Given the description of an element on the screen output the (x, y) to click on. 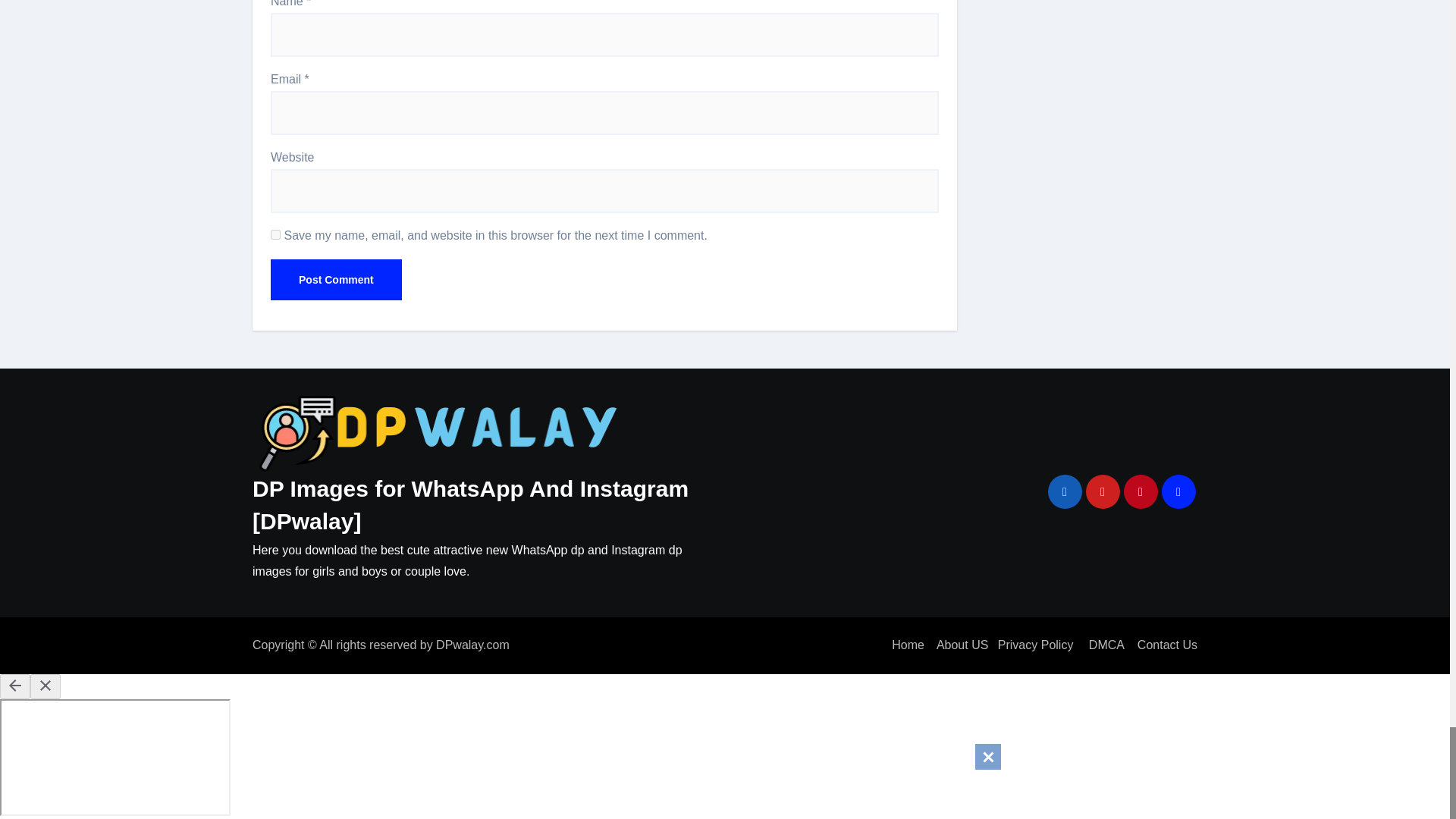
yes (275, 234)
Post Comment (335, 279)
